Given the description of an element on the screen output the (x, y) to click on. 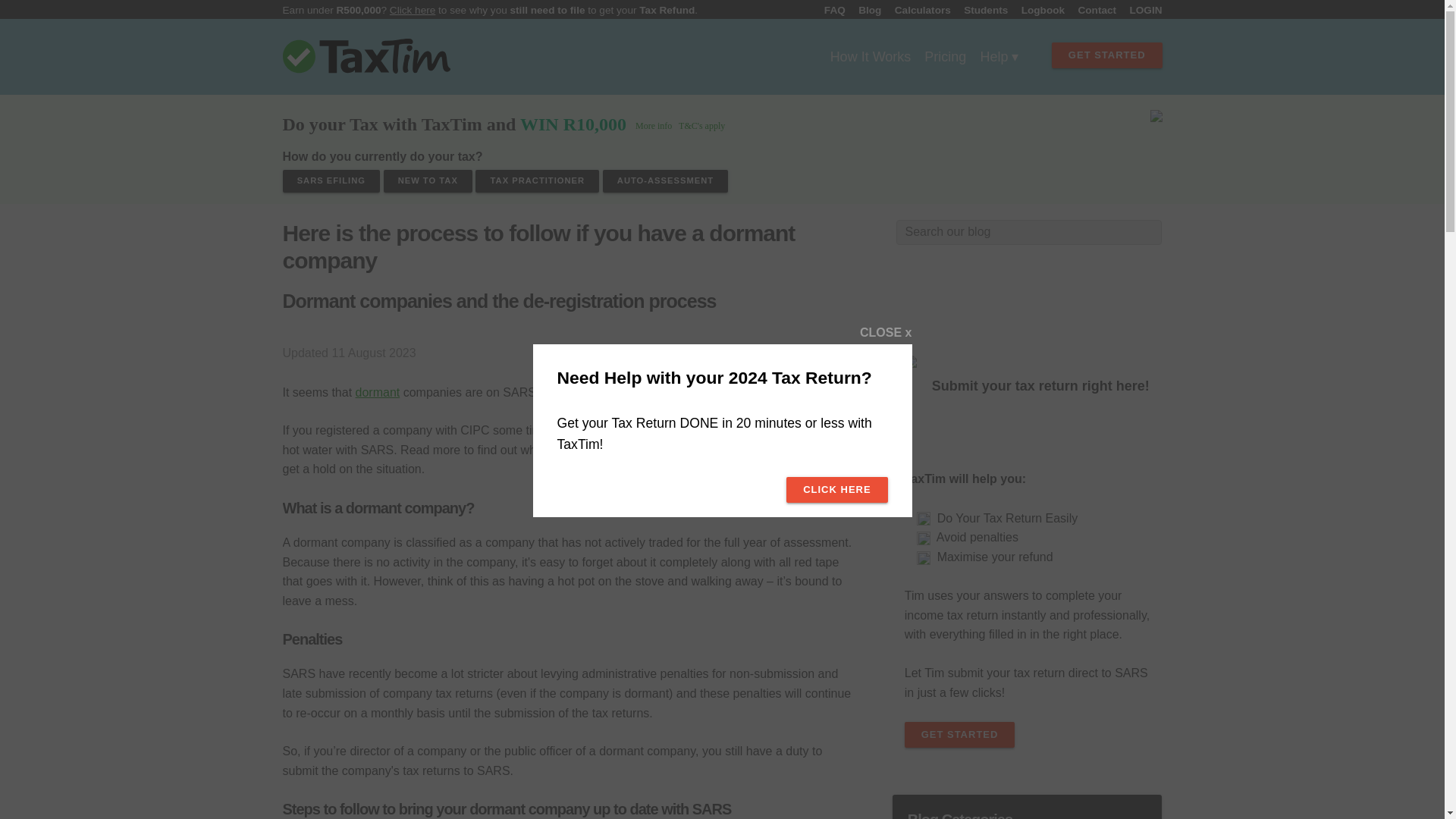
Click here (412, 9)
LOGIN (1140, 9)
Click for definition (377, 391)
Pricing (944, 56)
Contact (1091, 9)
How It Works (871, 56)
Calculators (916, 9)
GET STARTED (1106, 54)
FAQ (829, 9)
Help (998, 56)
Students (981, 9)
Blog (865, 9)
Logbook (1037, 9)
